Given the description of an element on the screen output the (x, y) to click on. 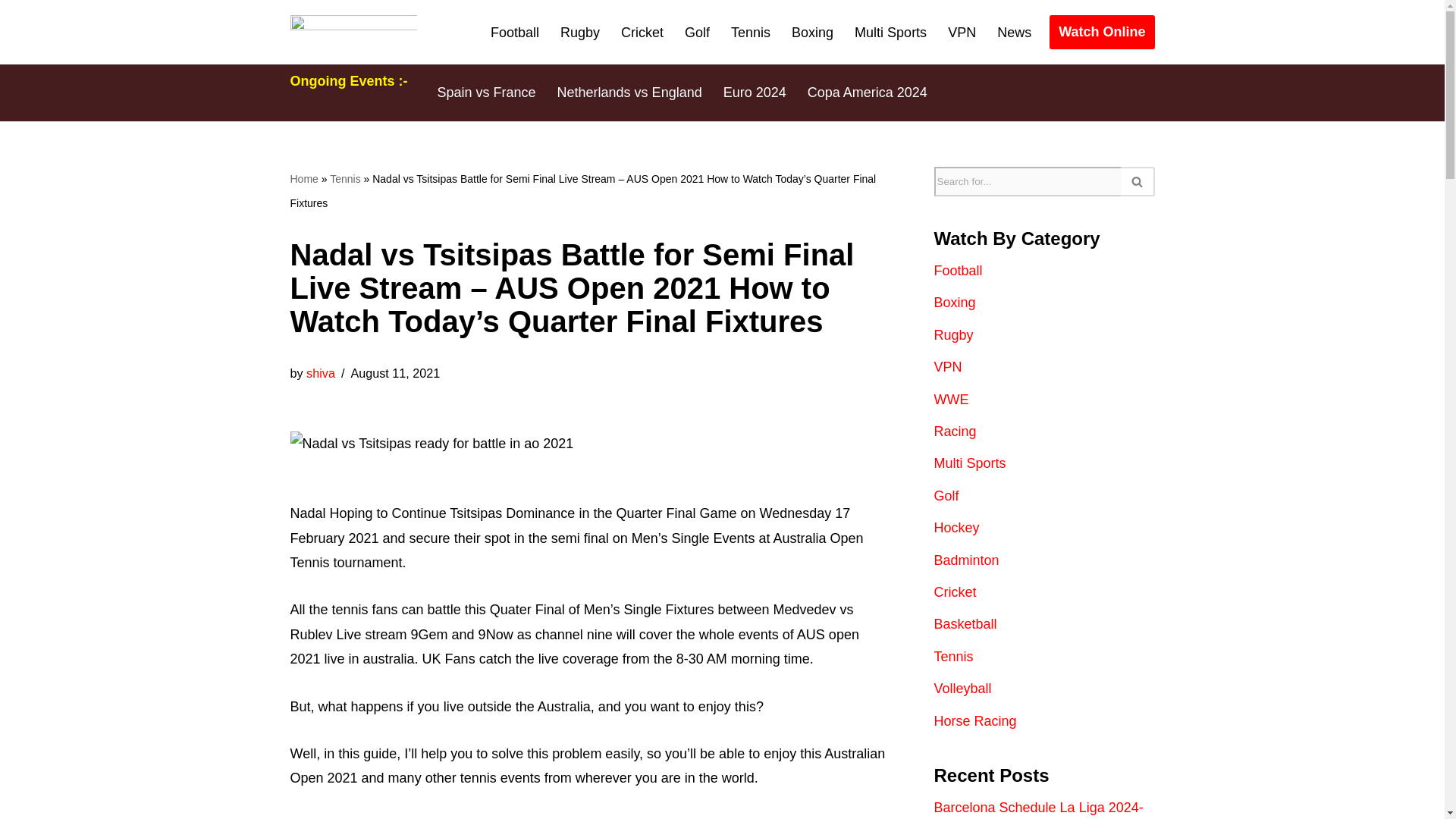
Copa America 2024 (867, 92)
shiva (319, 373)
Home (303, 178)
Watch Online (1101, 32)
Golf (697, 32)
Tennis (750, 32)
Spain vs France (485, 92)
Rugby (579, 32)
Multi Sports (890, 32)
Nadal vs Tsitsipas ready for battle in ao 2021 (431, 443)
